Given the description of an element on the screen output the (x, y) to click on. 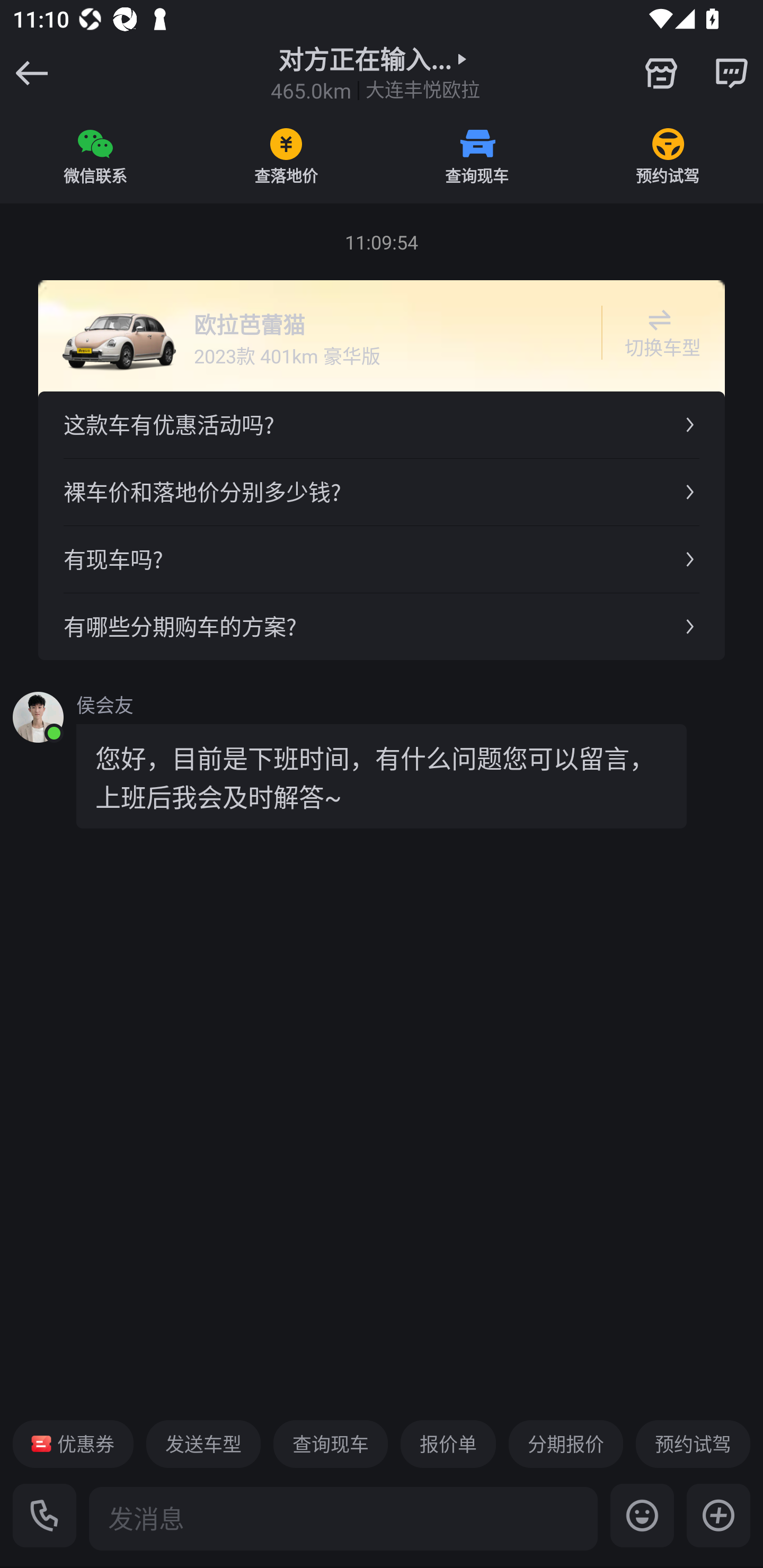
对方正在输入... 465.0km 大连丰悦欧拉 (374, 73)
 (730, 72)
 (661, 73)
微信联系 (95, 155)
查落地价 (285, 155)
查询现车 (476, 155)
预约试驾 (667, 155)
切换车型 (659, 332)
这款车有优惠活动吗? (381, 424)
裸车价和落地价分别多少钱? (381, 492)
有现车吗? (381, 558)
有哪些分期购车的方案? (381, 626)
您好，目前是下班时间，有什么问题您可以留言，上班后我会及时解答~ (381, 775)
优惠券 (72, 1443)
发送车型 (203, 1443)
查询现车 (330, 1443)
报价单 (447, 1443)
分期报价 (565, 1443)
预约试驾 (692, 1443)
 (718, 1515)
发消息 (343, 1518)
